Given the description of an element on the screen output the (x, y) to click on. 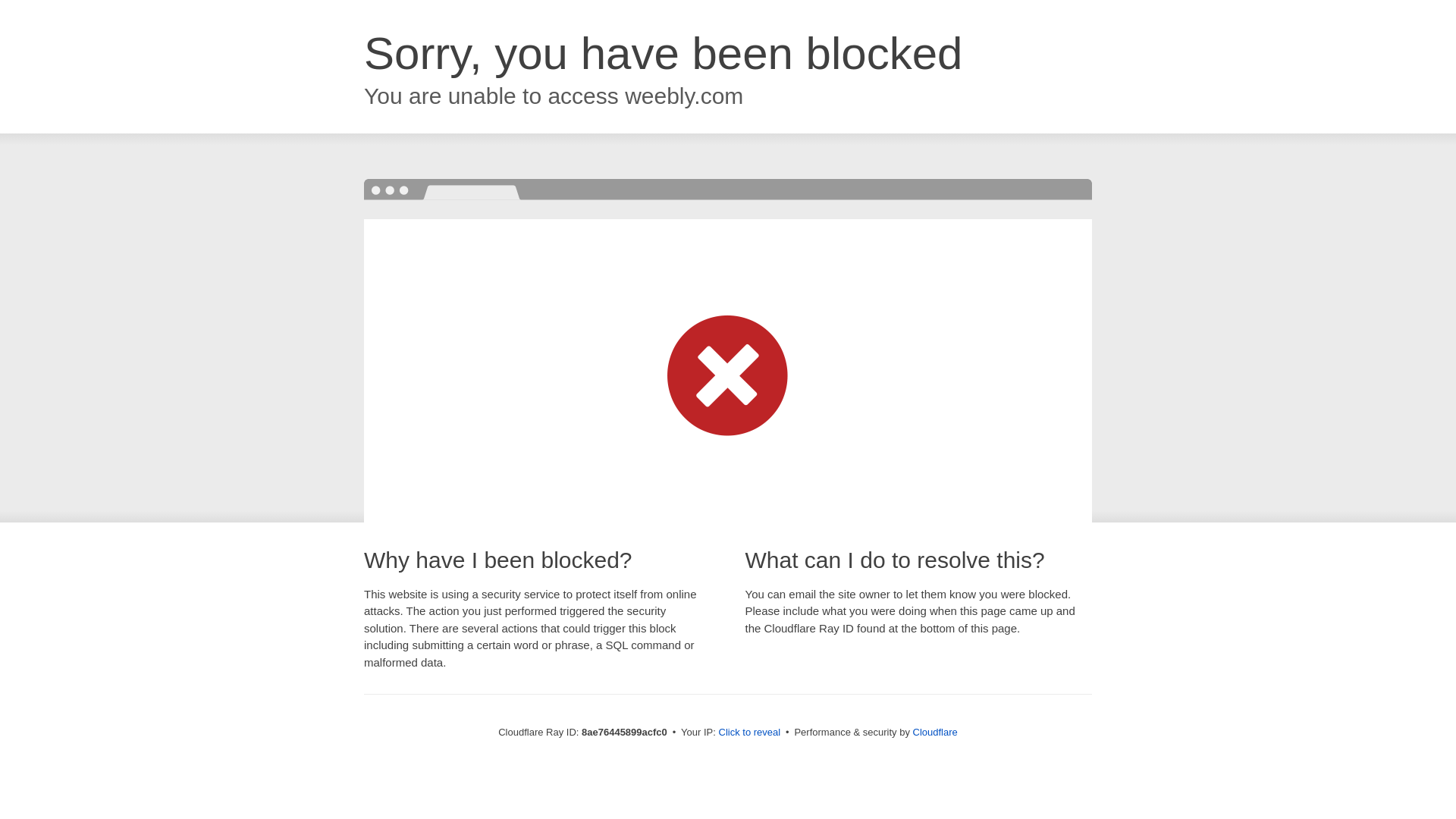
Cloudflare (935, 731)
Click to reveal (749, 732)
